Given the description of an element on the screen output the (x, y) to click on. 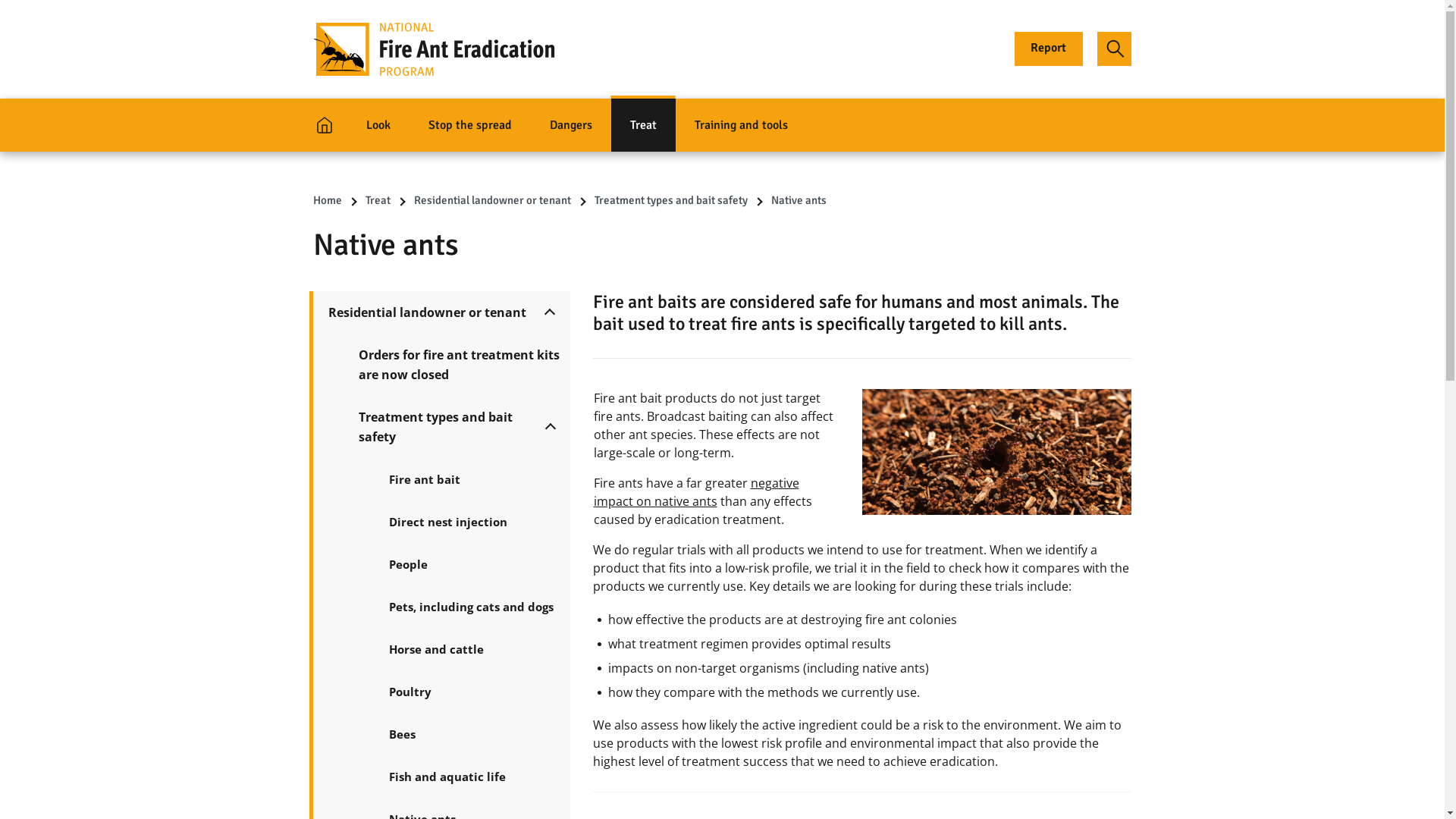
Stop the spread Element type: text (469, 124)
Report Element type: text (1048, 48)
Bees Element type: text (471, 733)
Home Element type: text (324, 124)
Pets, including cats and dogs Element type: text (471, 606)
People Element type: text (471, 563)
Treatment types and bait safety Element type: text (440, 426)
Treatment types and bait safety Element type: text (670, 200)
Fire ant bait Element type: text (471, 479)
Dangers Element type: text (570, 124)
Open/Close sub navigation Element type: text (549, 426)
Residential landowner or tenant Element type: text (492, 200)
Home Element type: text (326, 200)
Open/Close sub navigation Element type: text (548, 312)
Treat Element type: text (377, 200)
Horse and cattle Element type: text (471, 648)
Residential landowner or tenant Element type: text (425, 312)
Fish and aquatic life Element type: text (471, 776)
Treat Element type: text (643, 124)
negative impact on native ants Element type: text (695, 491)
Open/Close Search Field Element type: text (1114, 48)
Poultry Element type: text (471, 691)
Training and tools Element type: text (740, 124)
Orders for fire ant treatment kits are now closed Element type: text (456, 364)
Direct nest injection Element type: text (471, 521)
Look Element type: text (378, 124)
Site Logo Element type: text (433, 48)
